Given the description of an element on the screen output the (x, y) to click on. 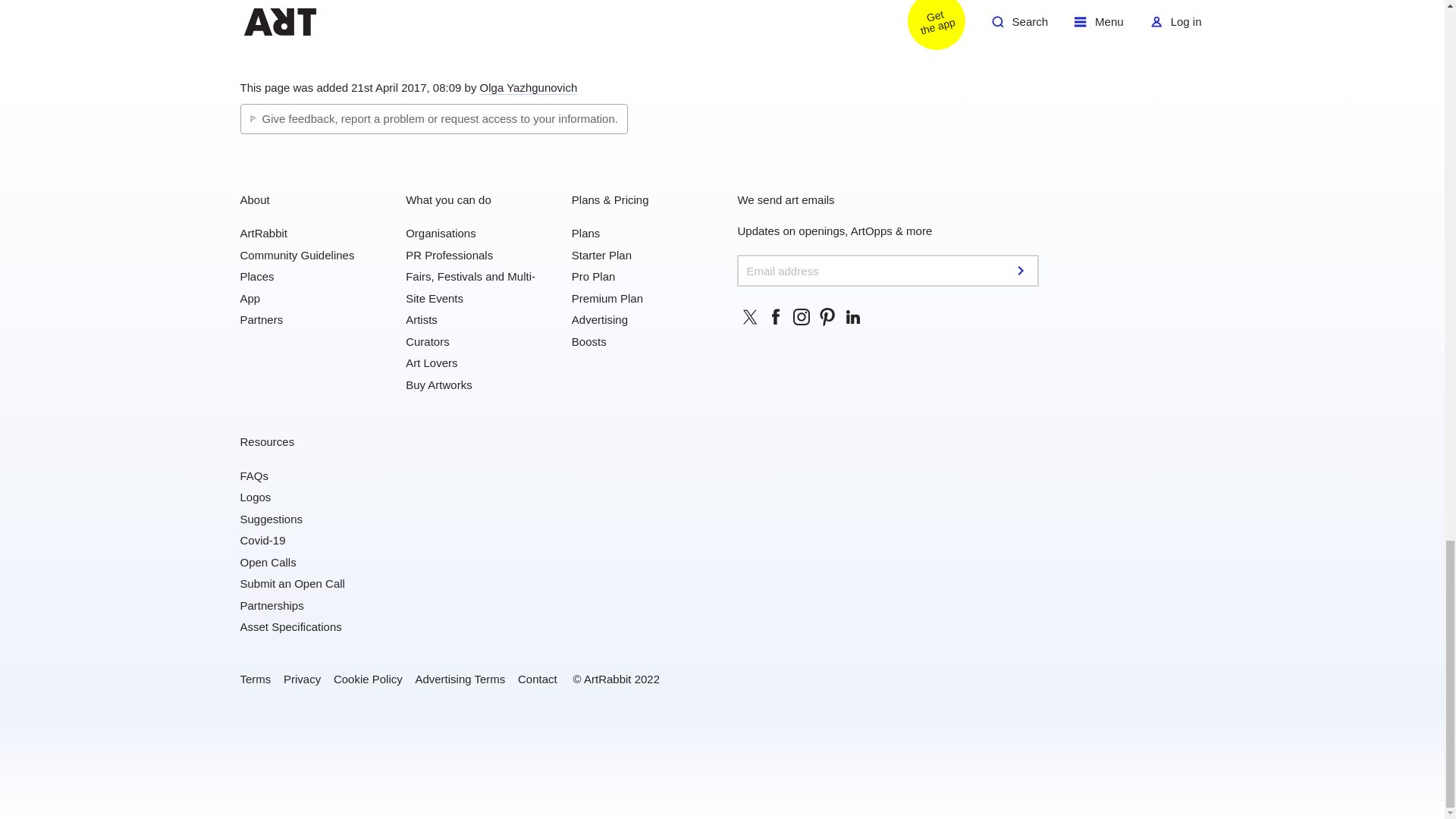
submit (1021, 270)
